Given the description of an element on the screen output the (x, y) to click on. 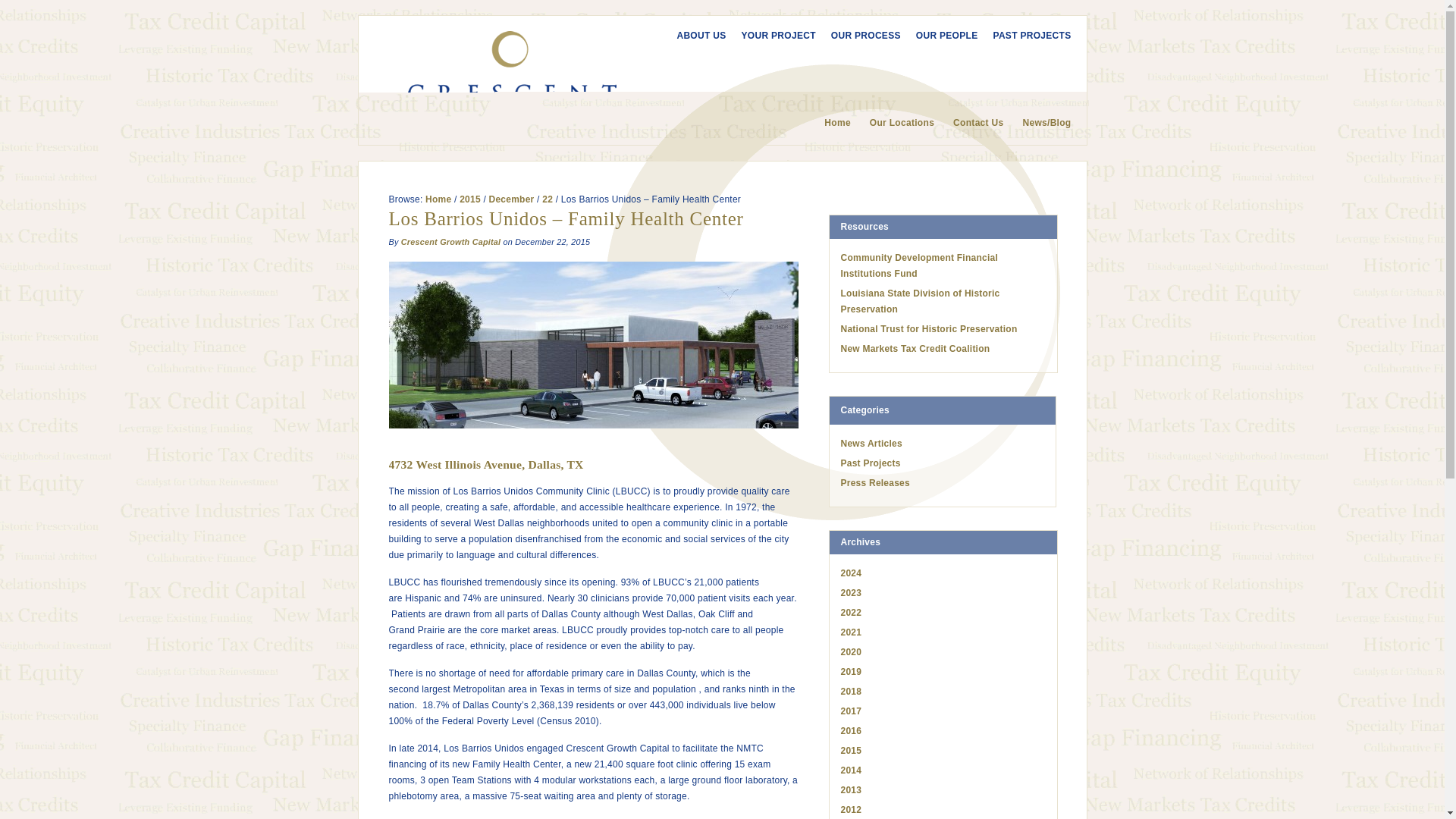
Community Development Financial Institutions Fund (918, 265)
2021 (850, 632)
Contact Us (968, 122)
2023 (850, 593)
YOUR PROJECT (770, 35)
December (511, 199)
Crescent Growth Capital, LLC (511, 77)
Home (827, 122)
PAST PROJECTS (1023, 35)
OUR PEOPLE (939, 35)
